Given the description of an element on the screen output the (x, y) to click on. 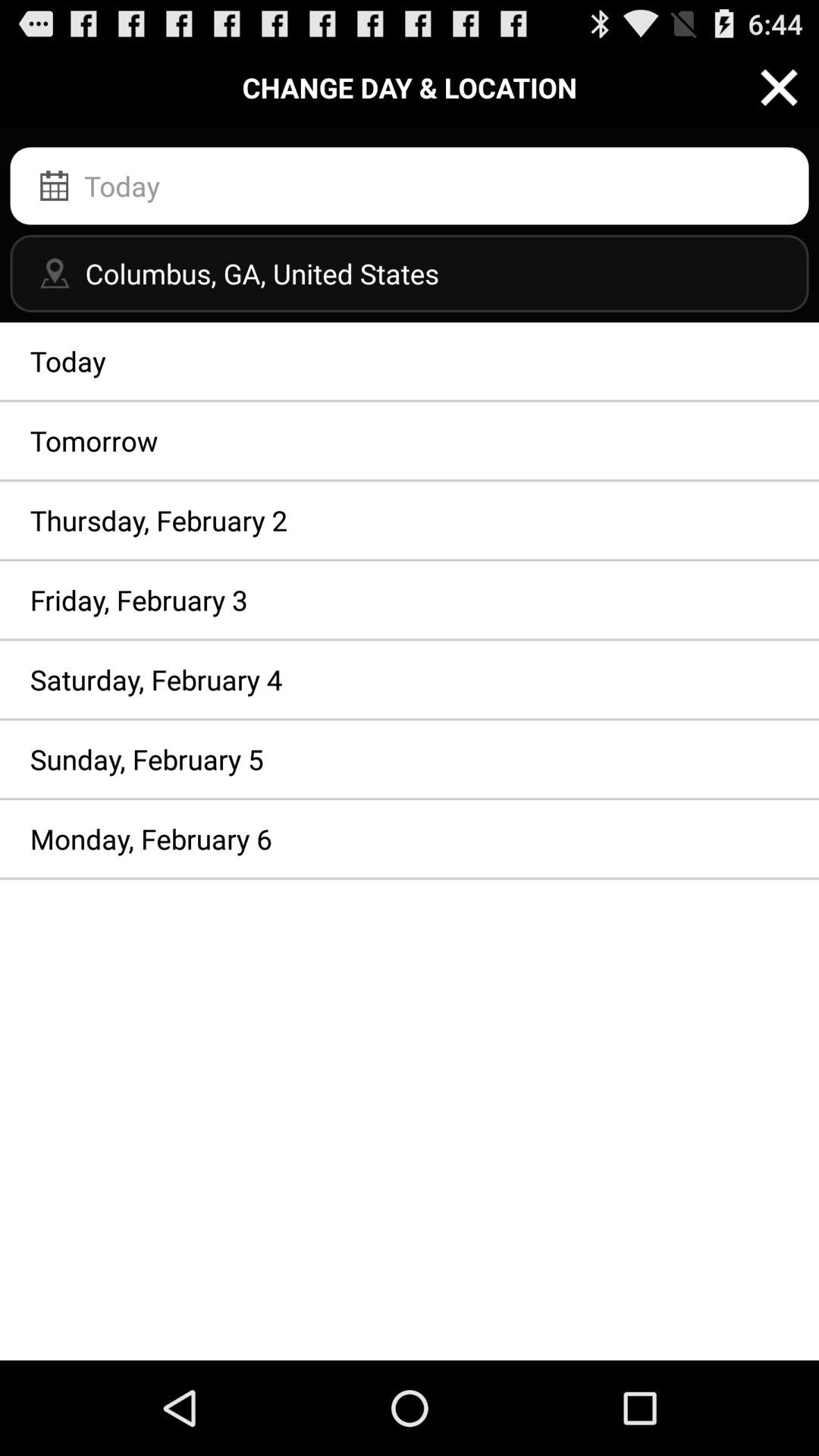
select icon below columbus ga united (409, 360)
